Given the description of an element on the screen output the (x, y) to click on. 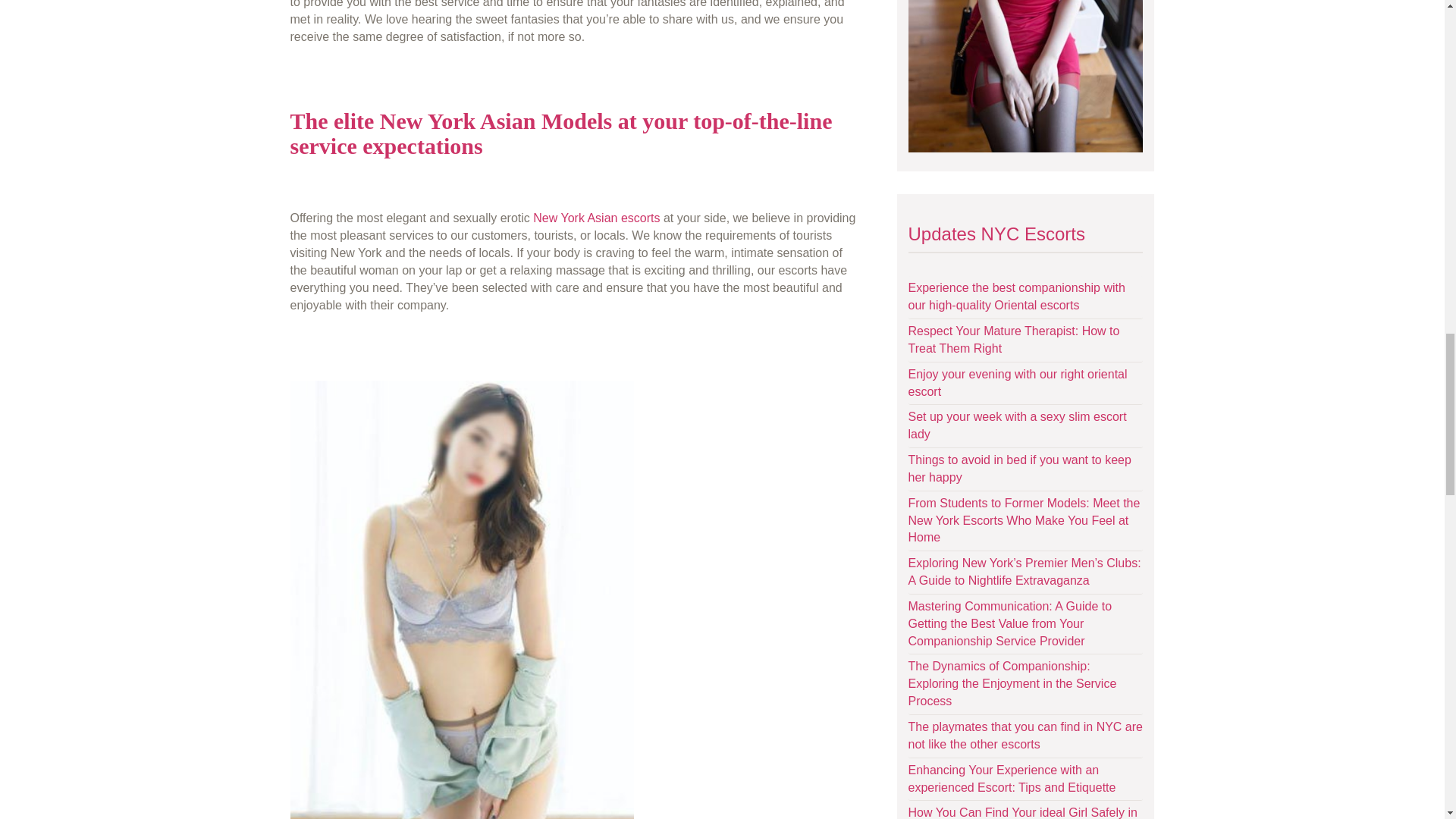
New York Asian escorts (595, 217)
